Given the description of an element on the screen output the (x, y) to click on. 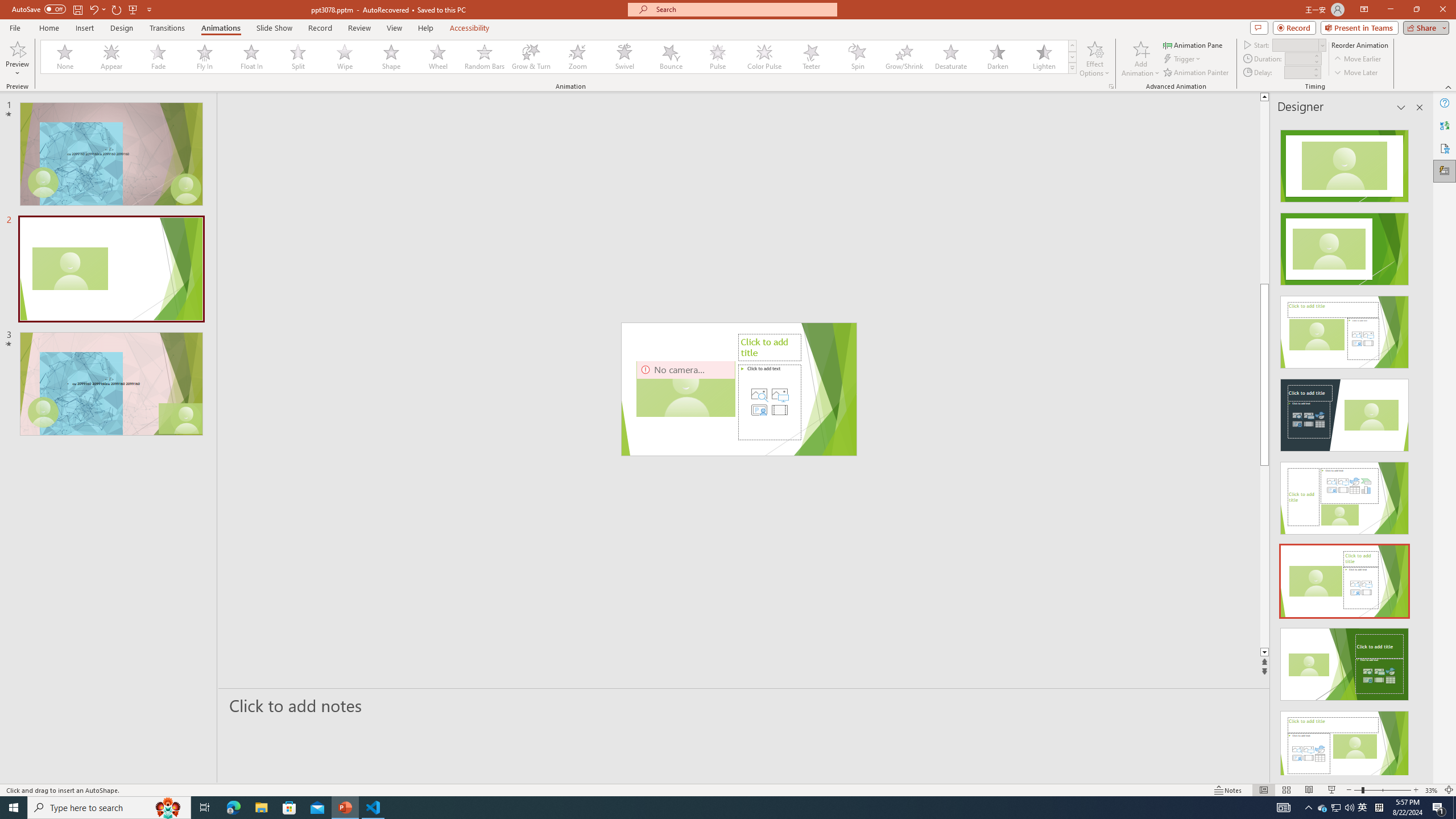
Teeter (810, 56)
Move Later (1355, 72)
Color Pulse (764, 56)
Grow/Shrink (903, 56)
